Given the description of an element on the screen output the (x, y) to click on. 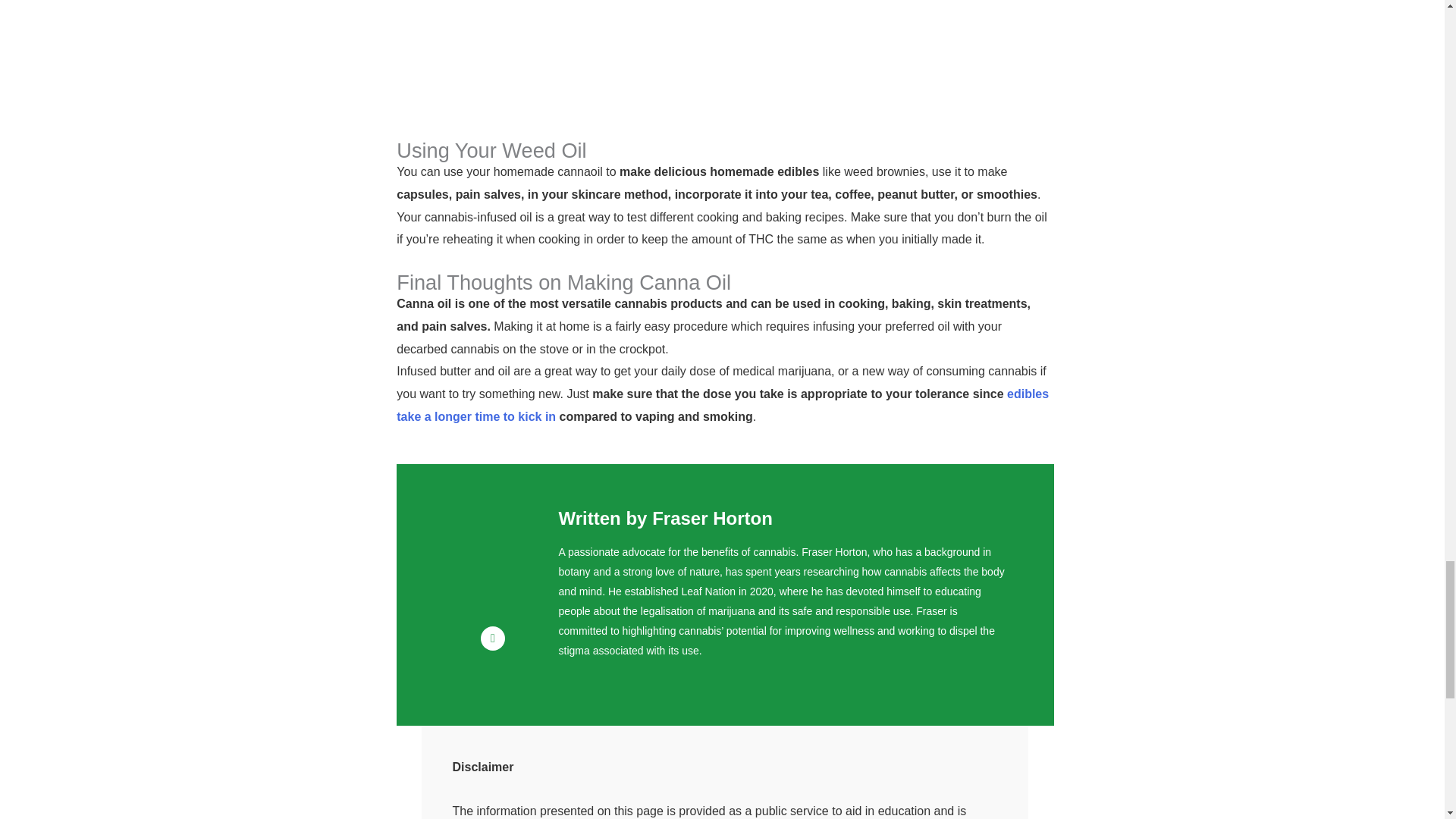
edibles take a longer time to kick in (722, 405)
Written by Fraser Horton (666, 517)
